Given the description of an element on the screen output the (x, y) to click on. 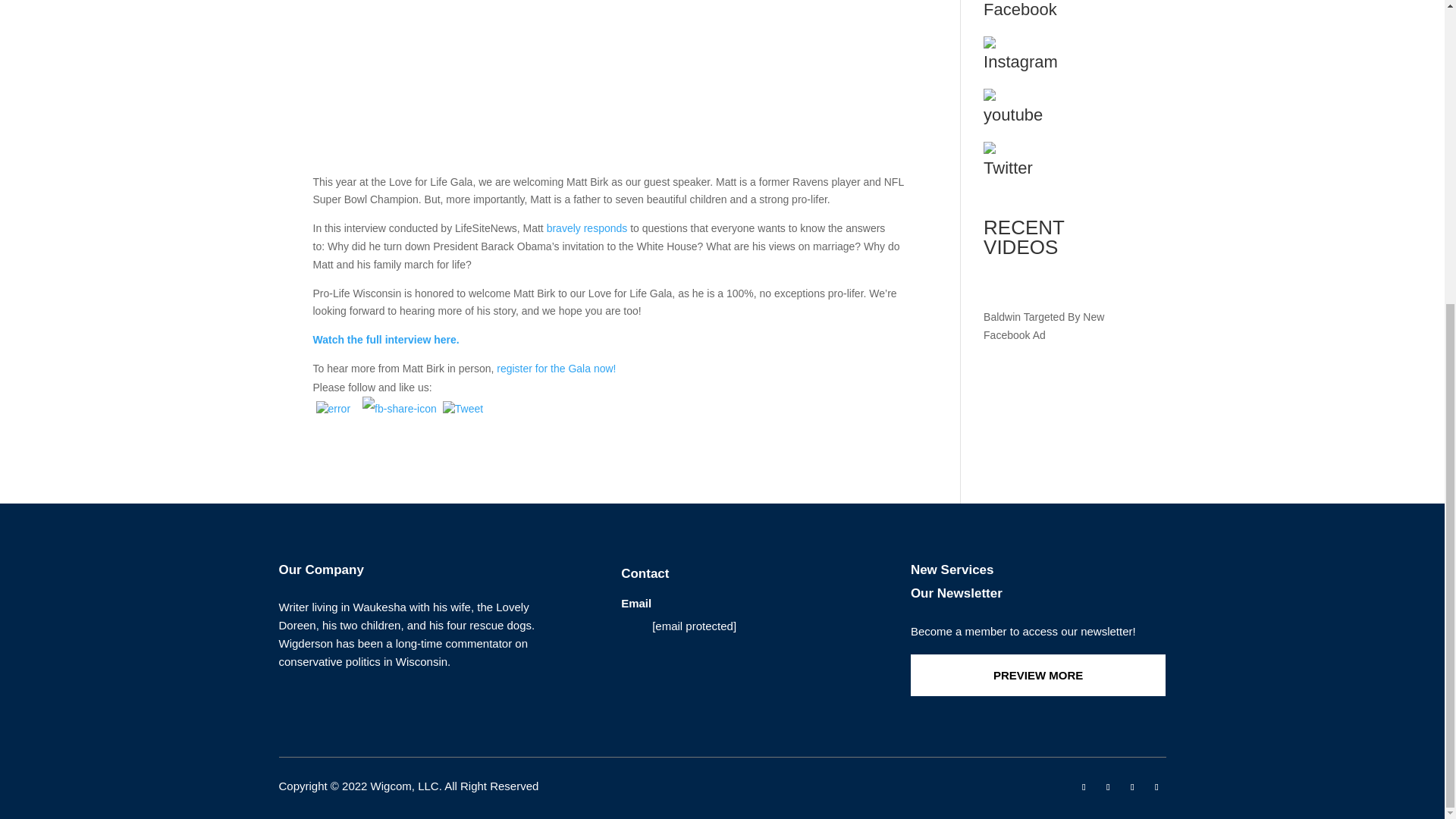
Instagram (1057, 58)
Facebook Share (399, 408)
Follow on Facebook (1083, 787)
YouTube video player (1057, 283)
Follow on Youtube (1156, 787)
Watch the full interview here. (385, 339)
Twitter (1057, 164)
Follow on X (1107, 787)
egister for the Gala now! (557, 368)
Follow on Instagram (1131, 787)
